Given the description of an element on the screen output the (x, y) to click on. 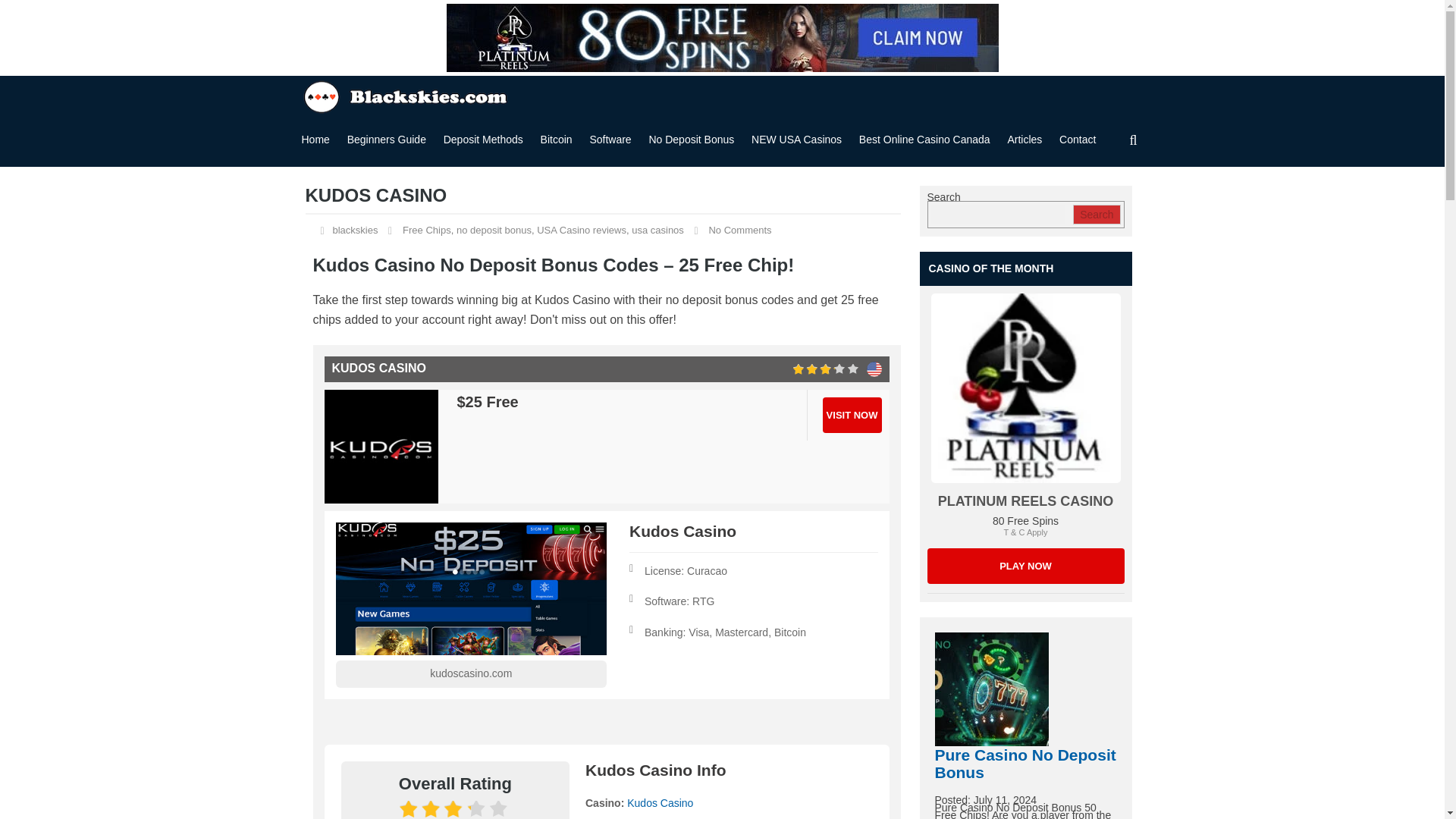
No Deposit Bonus (721, 38)
Kudos Casino (381, 446)
Deposit Methods (483, 139)
Online Casino No Deposit Bonus Codes Usa 2024 (407, 94)
PLATINUM REELS CASINO (1025, 388)
PLATINUM REELS CASINO (1026, 388)
Home (315, 139)
Pure Casino No Deposit Bonus (991, 689)
Kudos Casino (873, 368)
Beginners Guide (386, 139)
PLATINUM REELS CASINO (1025, 500)
Kudos Casino (470, 588)
PLATINUM REELS CASINO (1025, 565)
Posts by blackskies (354, 229)
